Given the description of an element on the screen output the (x, y) to click on. 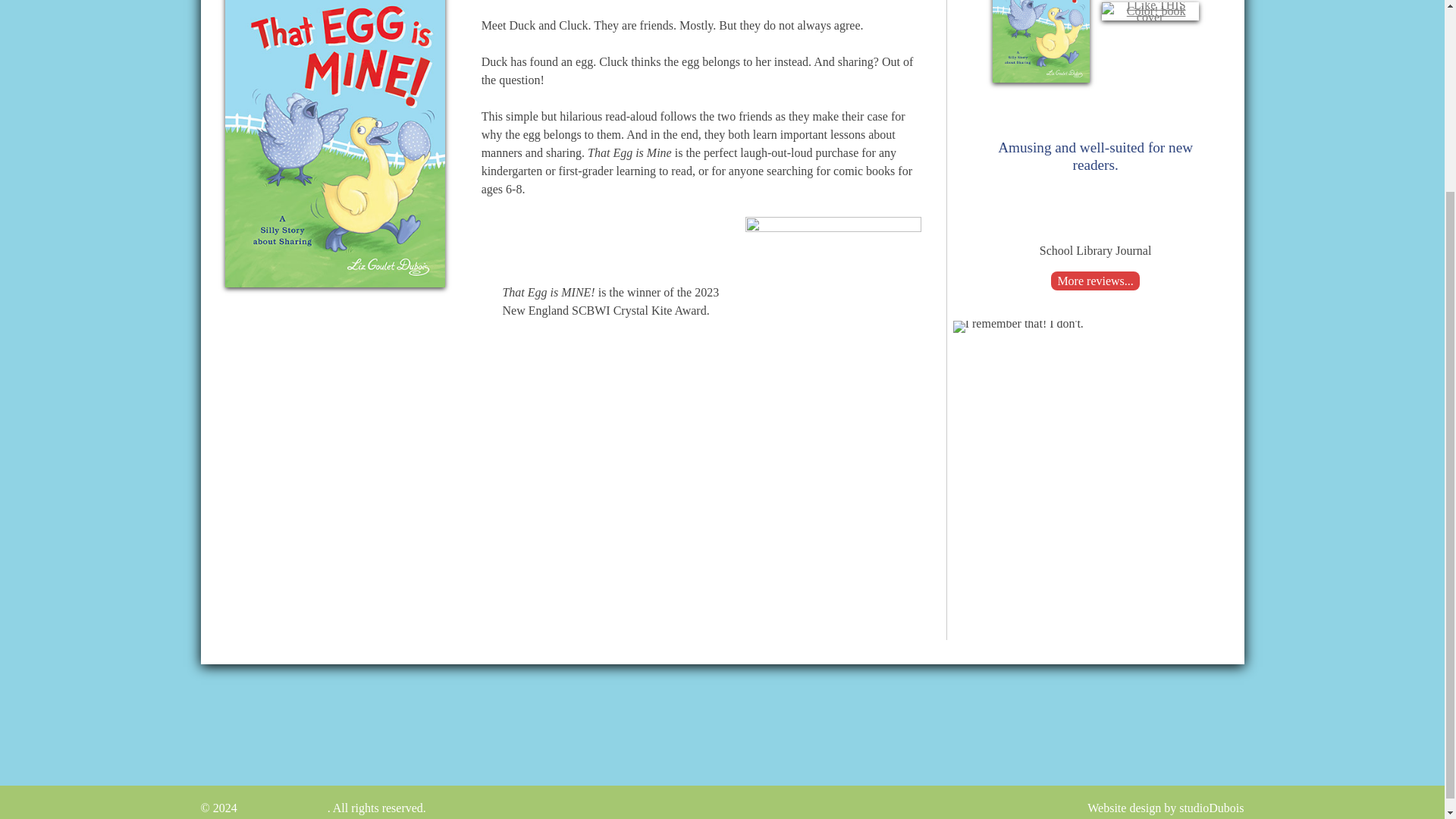
duckandcluck-That-Egg-Is-Mine-book-cover (1040, 78)
duckandcluck-I-Like-THIS-Color-book-cover (1150, 16)
More reviews... (1094, 280)
studioDubois (1211, 807)
duckandcluck-That-Egg-Is-Mine-book-cover (334, 277)
